Given the description of an element on the screen output the (x, y) to click on. 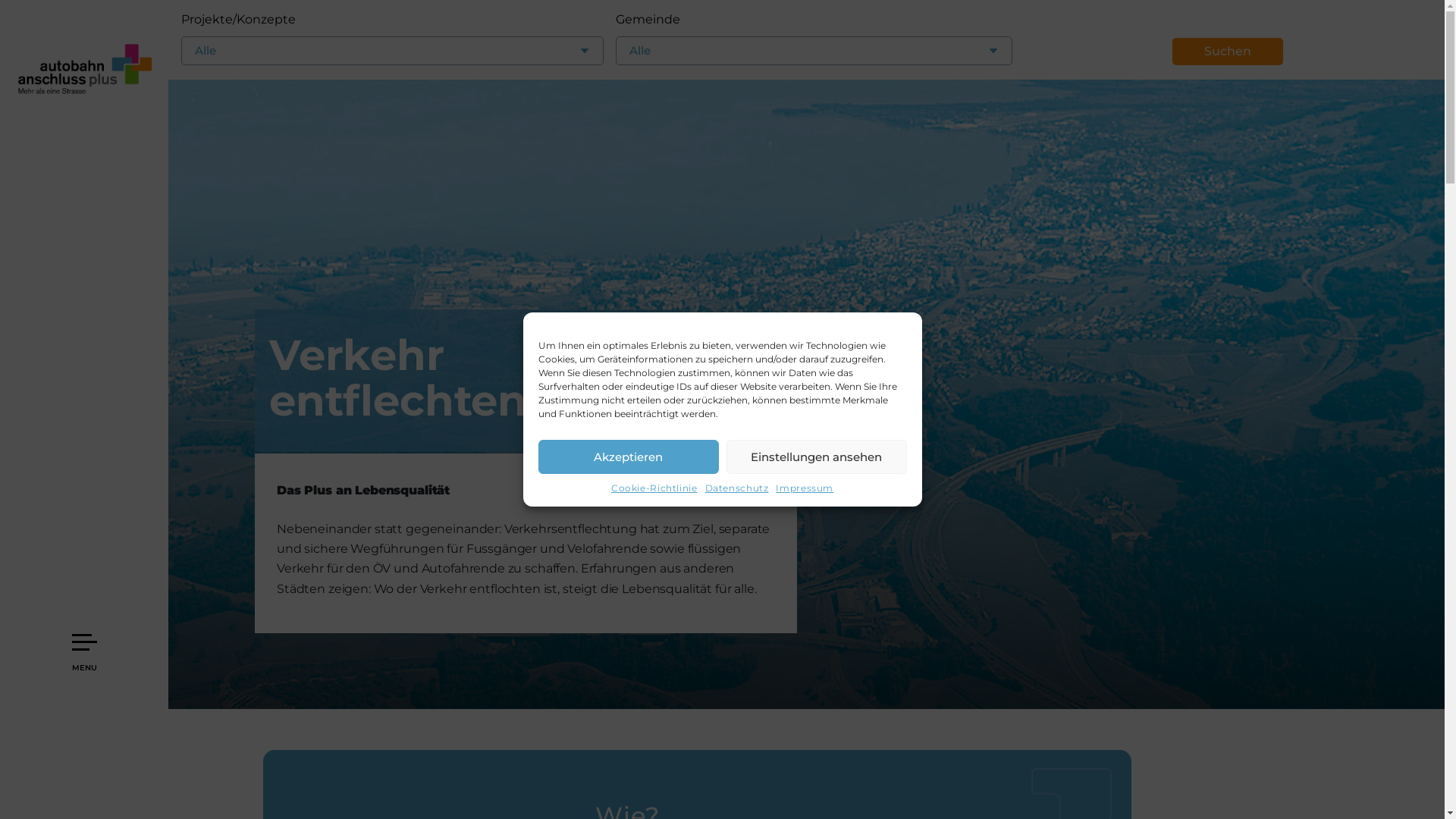
Cookie-Richtlinie Element type: text (654, 488)
Impressum Element type: text (804, 488)
Suchen Element type: text (1227, 51)
Datenschutz Element type: text (736, 488)
Einstellungen ansehen Element type: text (816, 456)
Akzeptieren Element type: text (628, 456)
